Given the description of an element on the screen output the (x, y) to click on. 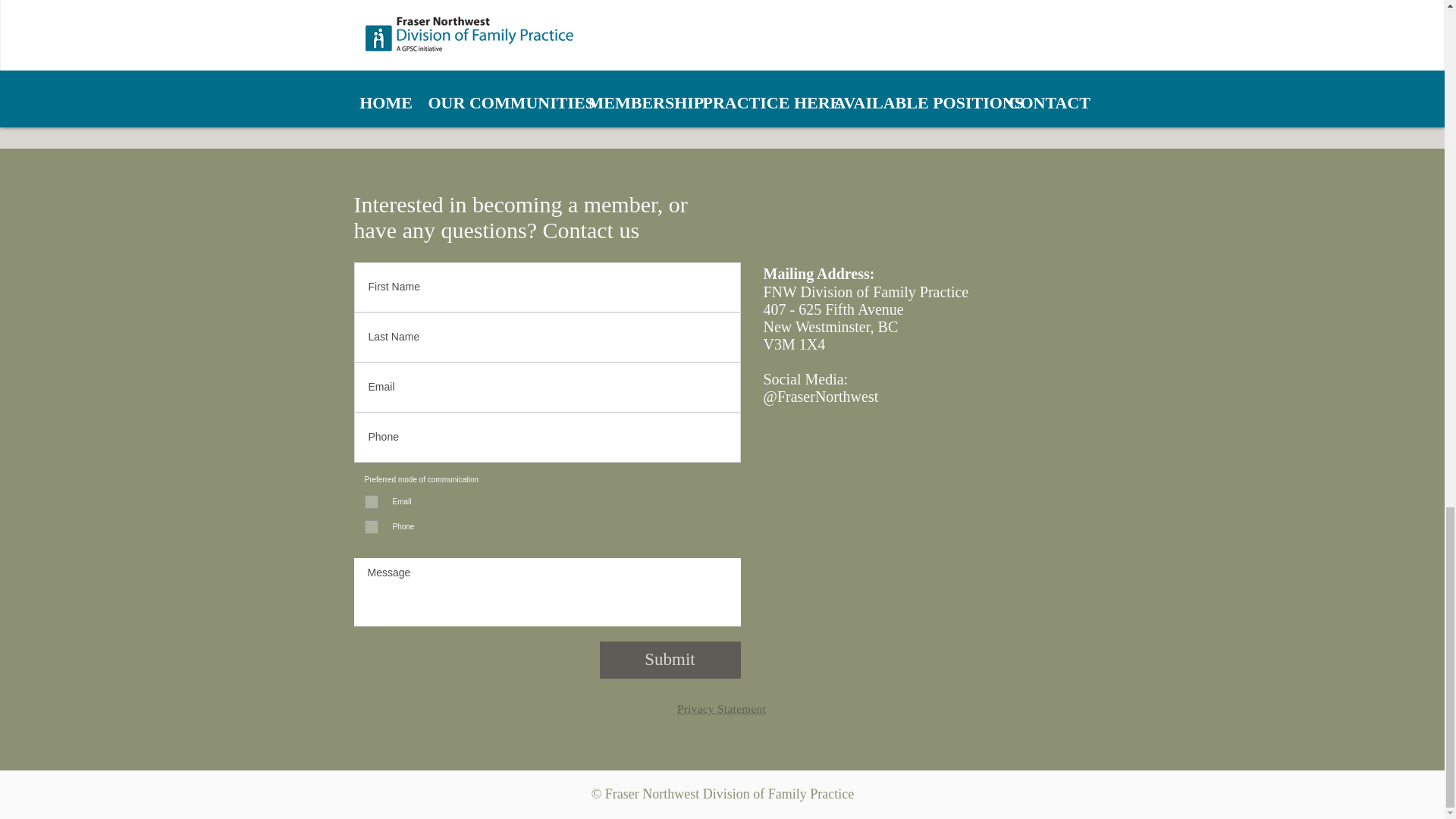
Privacy Statement (721, 708)
Submit (668, 659)
